Given the description of an element on the screen output the (x, y) to click on. 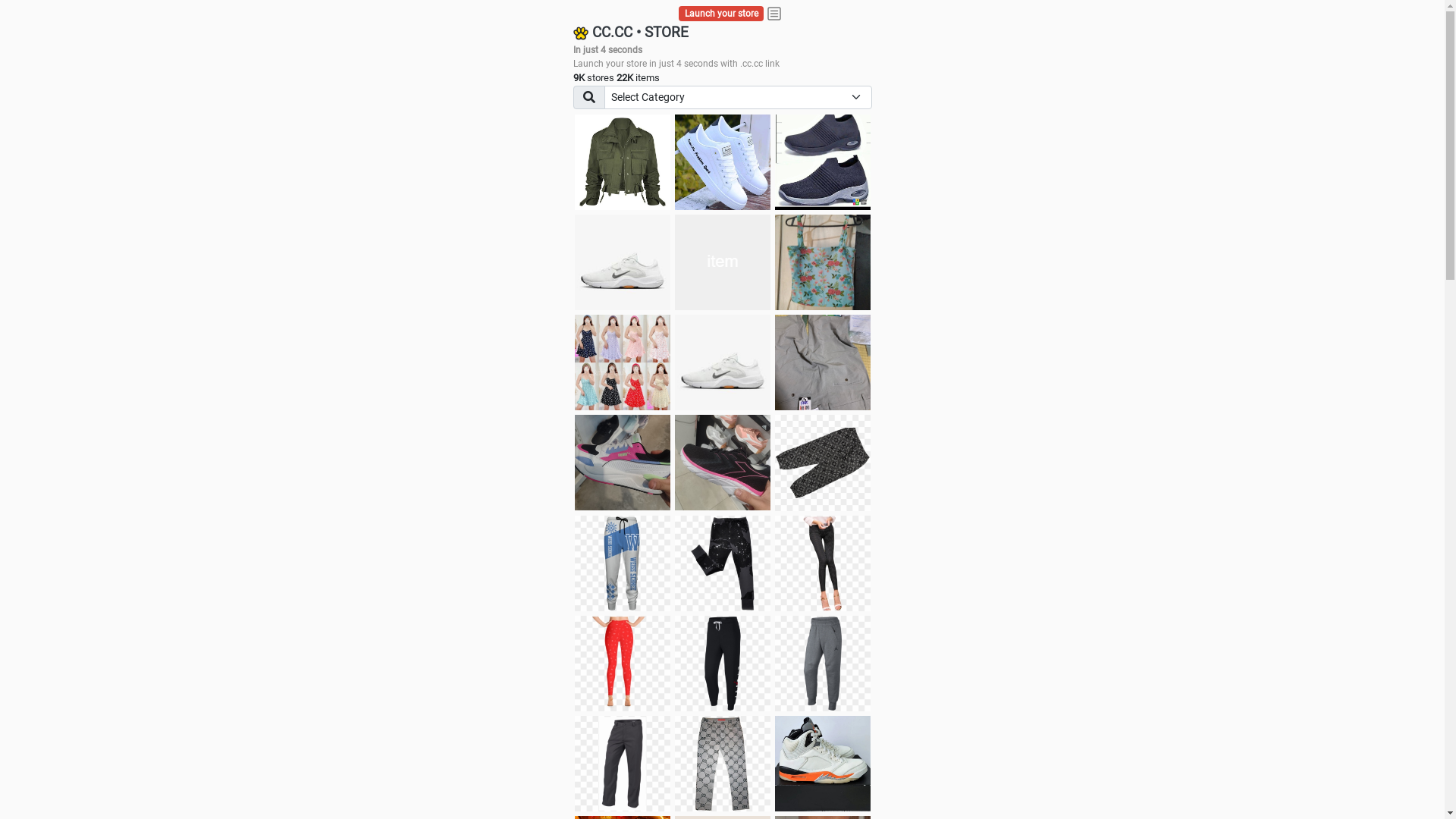
Shoes Element type: hover (722, 362)
Shoe Element type: hover (822, 763)
Dress/square nect top Element type: hover (622, 362)
Shoes for boys Element type: hover (622, 262)
jacket Element type: hover (622, 162)
Zapatillas pumas Element type: hover (622, 462)
Short pant Element type: hover (822, 462)
white shoes Element type: hover (722, 162)
Pant Element type: hover (622, 563)
Pant Element type: hover (722, 563)
shoes for boys Element type: hover (822, 162)
Pant Element type: hover (822, 563)
Pant Element type: hover (722, 763)
Pant Element type: hover (722, 663)
Pant Element type: hover (622, 663)
Pant Element type: hover (622, 763)
Zapatillas Element type: hover (722, 462)
Launch your store Element type: text (721, 13)
Pant Element type: hover (822, 663)
Ukay cloth Element type: hover (822, 262)
Things we need Element type: hover (722, 262)
